Given the description of an element on the screen output the (x, y) to click on. 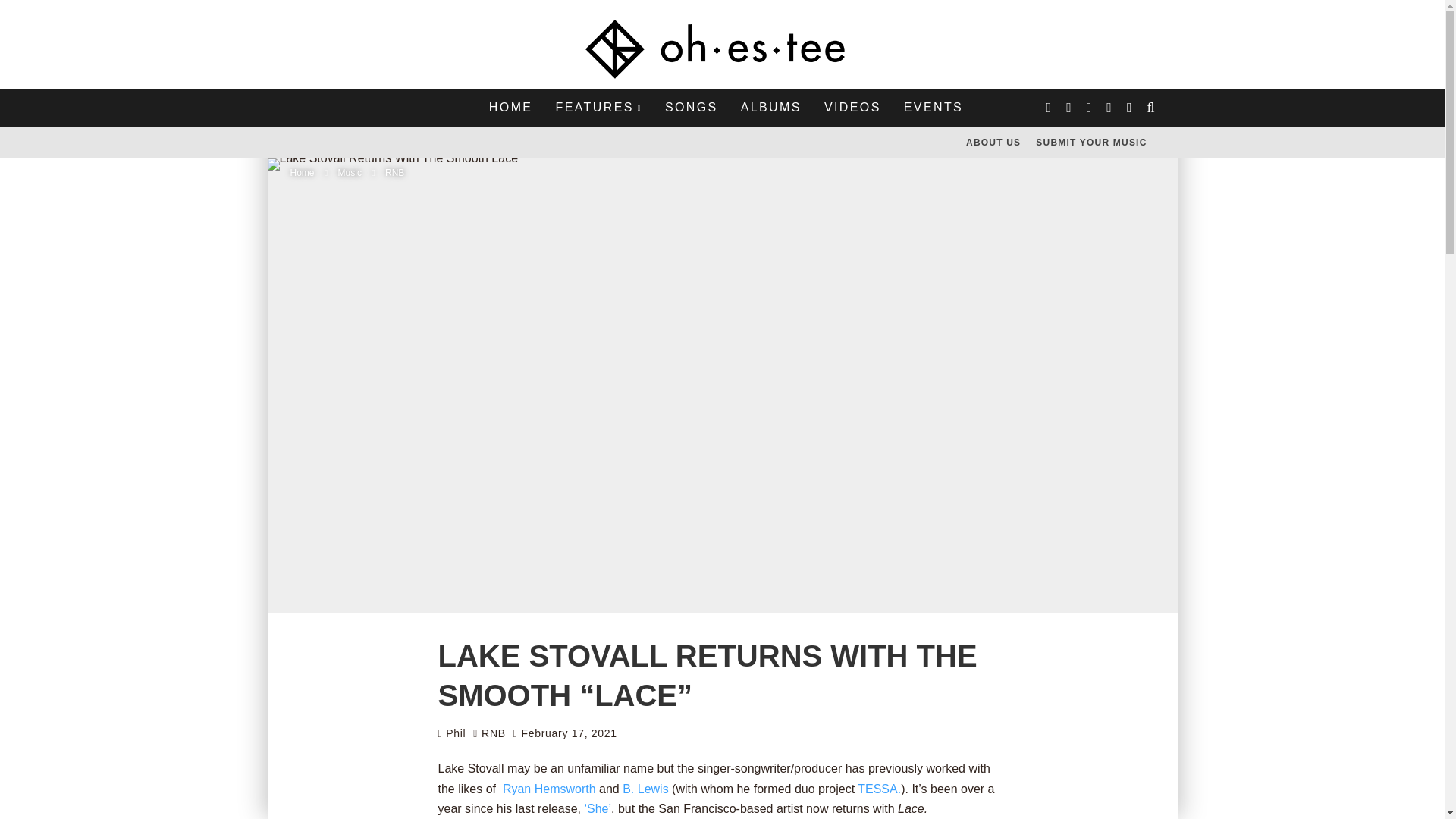
SONGS (691, 107)
FEATURES (597, 107)
HOME (510, 107)
